Given the description of an element on the screen output the (x, y) to click on. 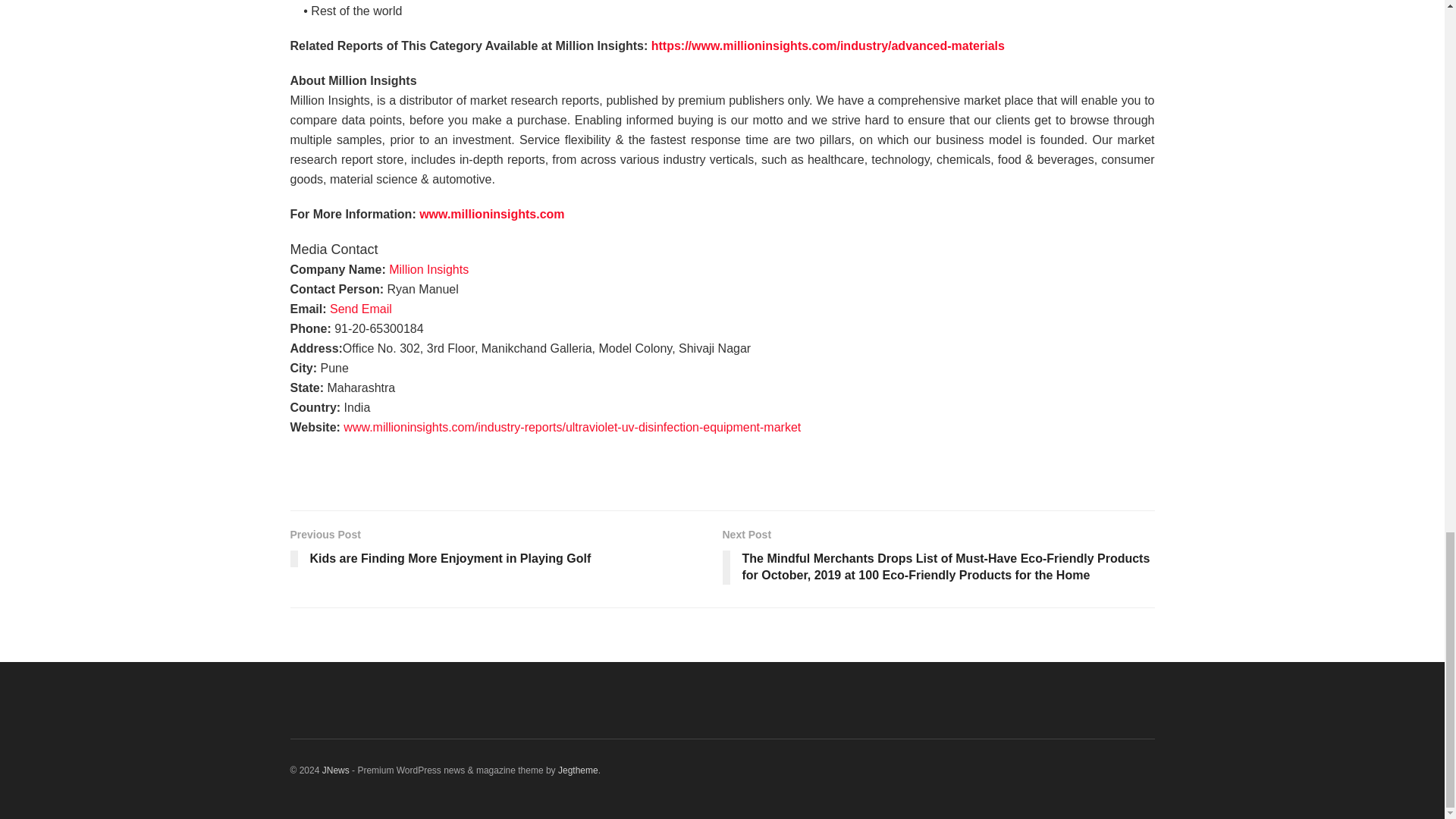
Million Insights (428, 269)
Jegtheme (577, 769)
JNews (335, 769)
Send Email (360, 308)
Jegtheme (577, 769)
www.millioninsights.com (491, 214)
